Given the description of an element on the screen output the (x, y) to click on. 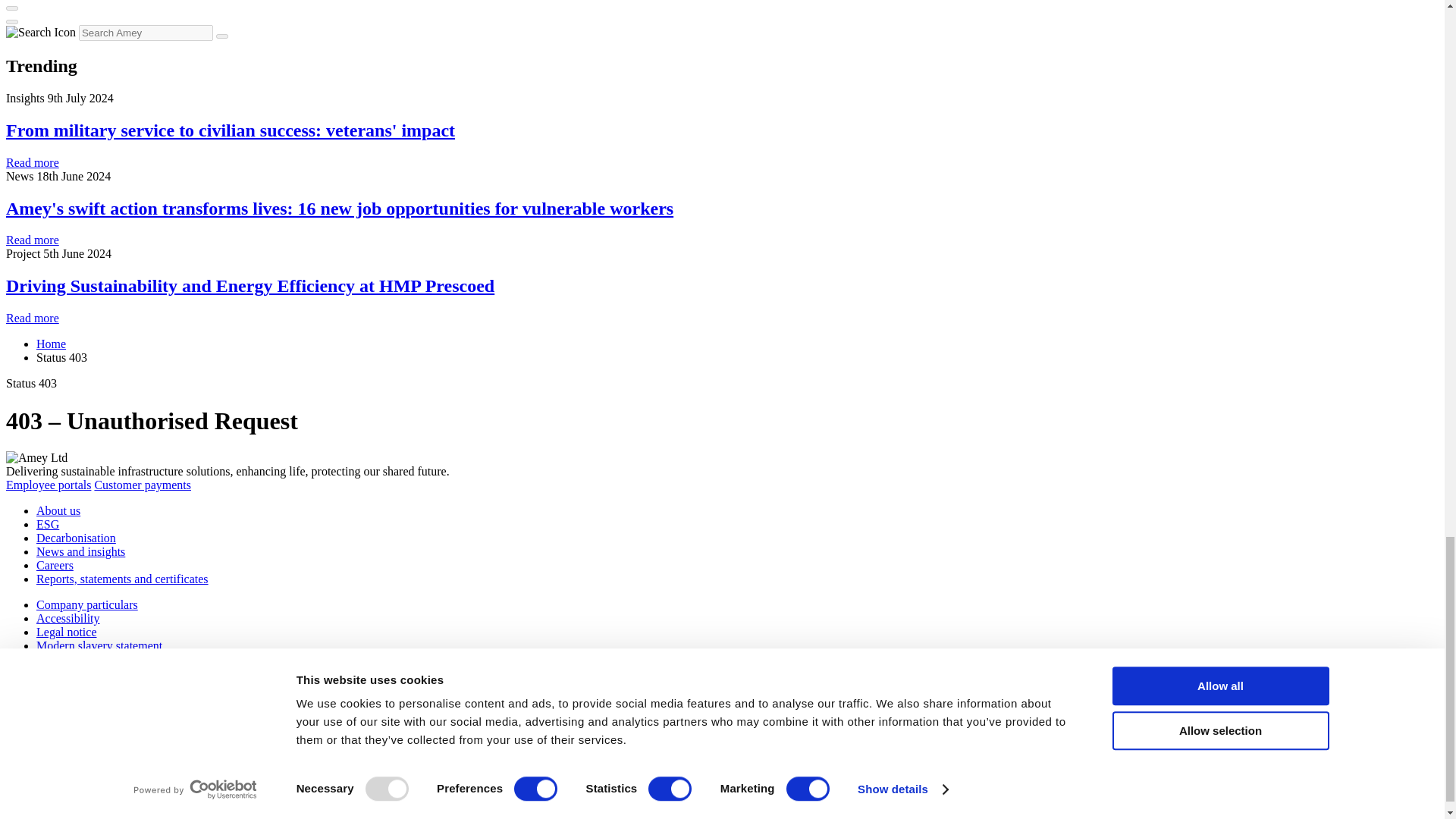
Search (221, 36)
